Given the description of an element on the screen output the (x, y) to click on. 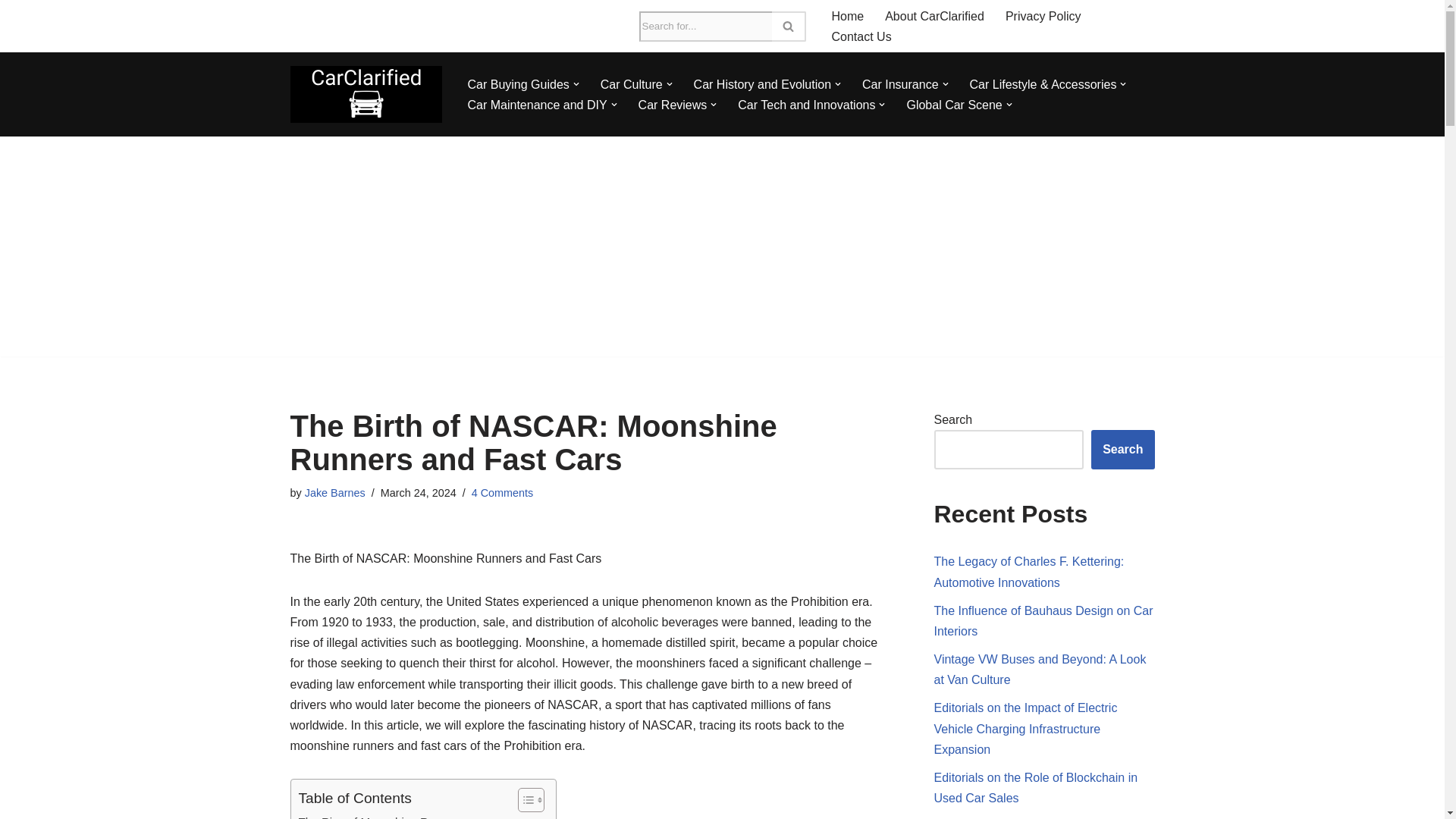
Car Culture (630, 84)
Skip to content (11, 31)
Car Insurance (900, 84)
About CarClarified (934, 15)
Contact Us (861, 36)
Car History and Evolution (762, 84)
Privacy Policy (1043, 15)
Car Maintenance and DIY (537, 105)
Home (847, 15)
